Given the description of an element on the screen output the (x, y) to click on. 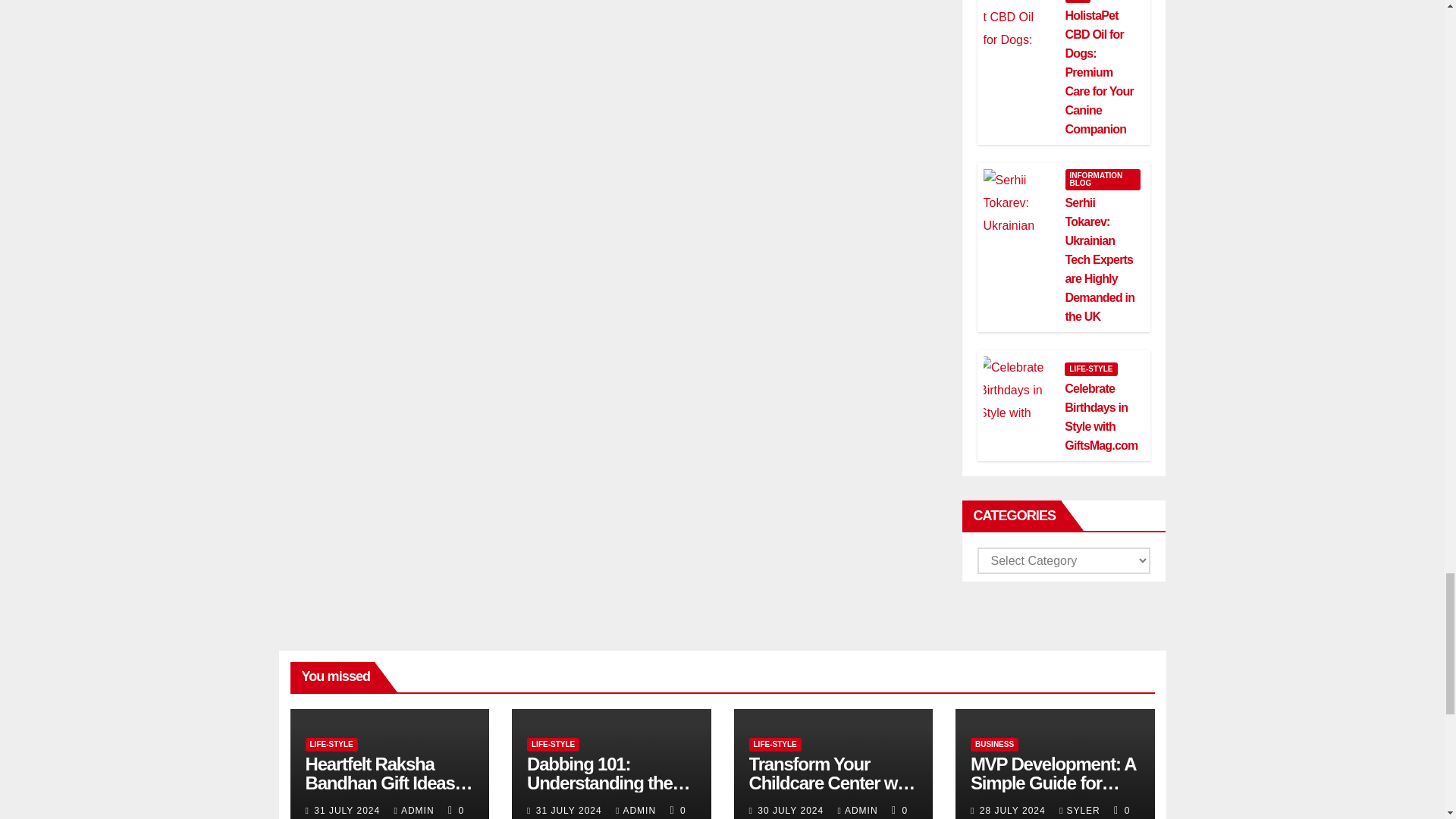
Permalink to: MVP Development: A Simple Guide for Startups (1053, 782)
